Given the description of an element on the screen output the (x, y) to click on. 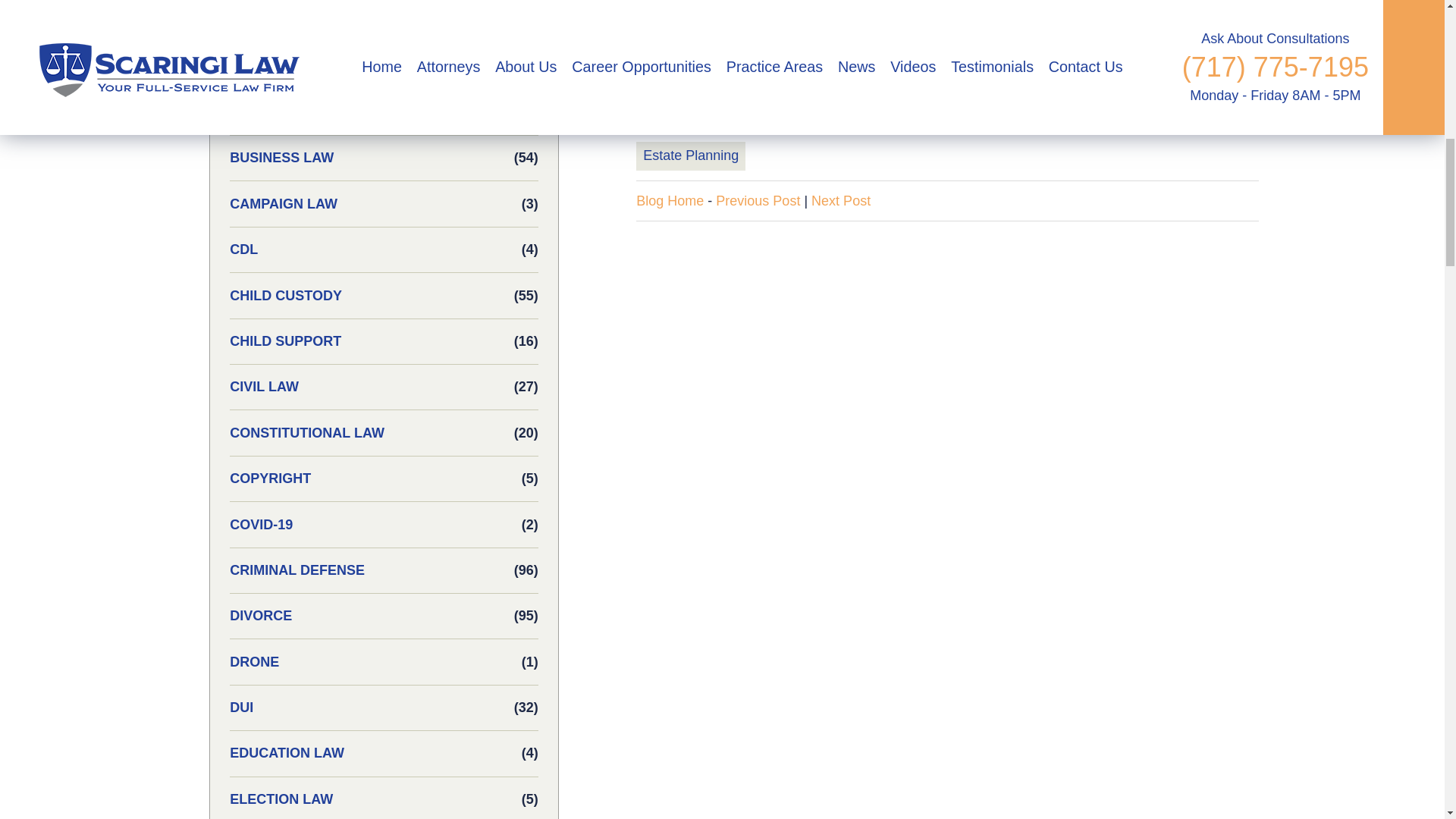
In defending your federal career, don't go it alone (757, 200)
It takes a lawyer to keep gun buyers out of the line of fire (840, 200)
